Given the description of an element on the screen output the (x, y) to click on. 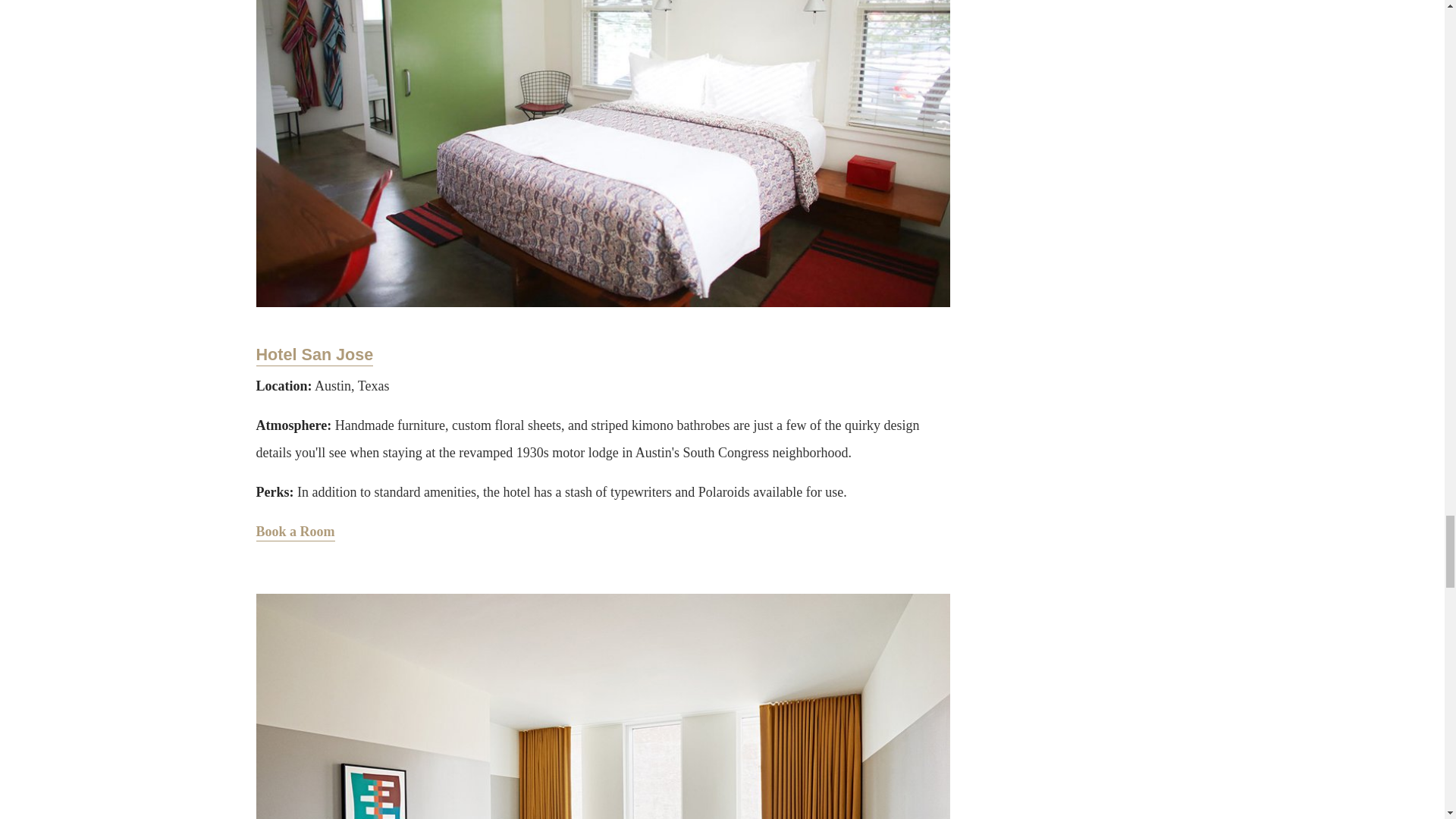
Hotel San Jose (315, 355)
Book a Room (295, 532)
Book Hotel San Jose (295, 532)
Hotel San Jose (315, 355)
